Given the description of an element on the screen output the (x, y) to click on. 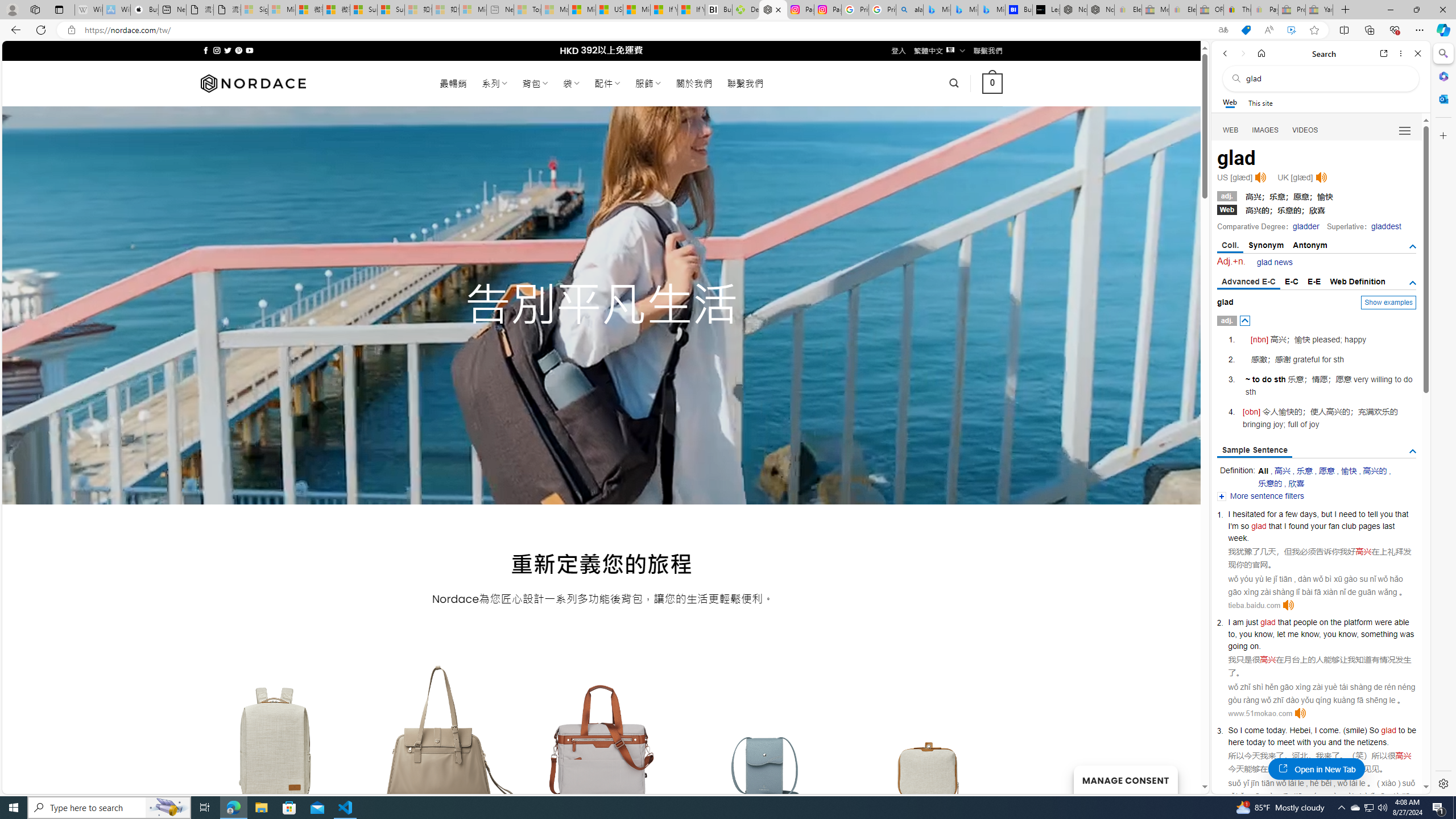
the (1349, 741)
gladder (1305, 225)
something (1379, 633)
come (1329, 729)
US Heat Deaths Soared To Record High Last Year (609, 9)
you (1319, 741)
Microsoft Start (636, 9)
Refresh (40, 29)
Class: b_serphb (1404, 130)
Marine life - MSN - Sleeping (554, 9)
Microsoft account | Account Checkup - Sleeping (473, 9)
Home (1261, 53)
